Given the description of an element on the screen output the (x, y) to click on. 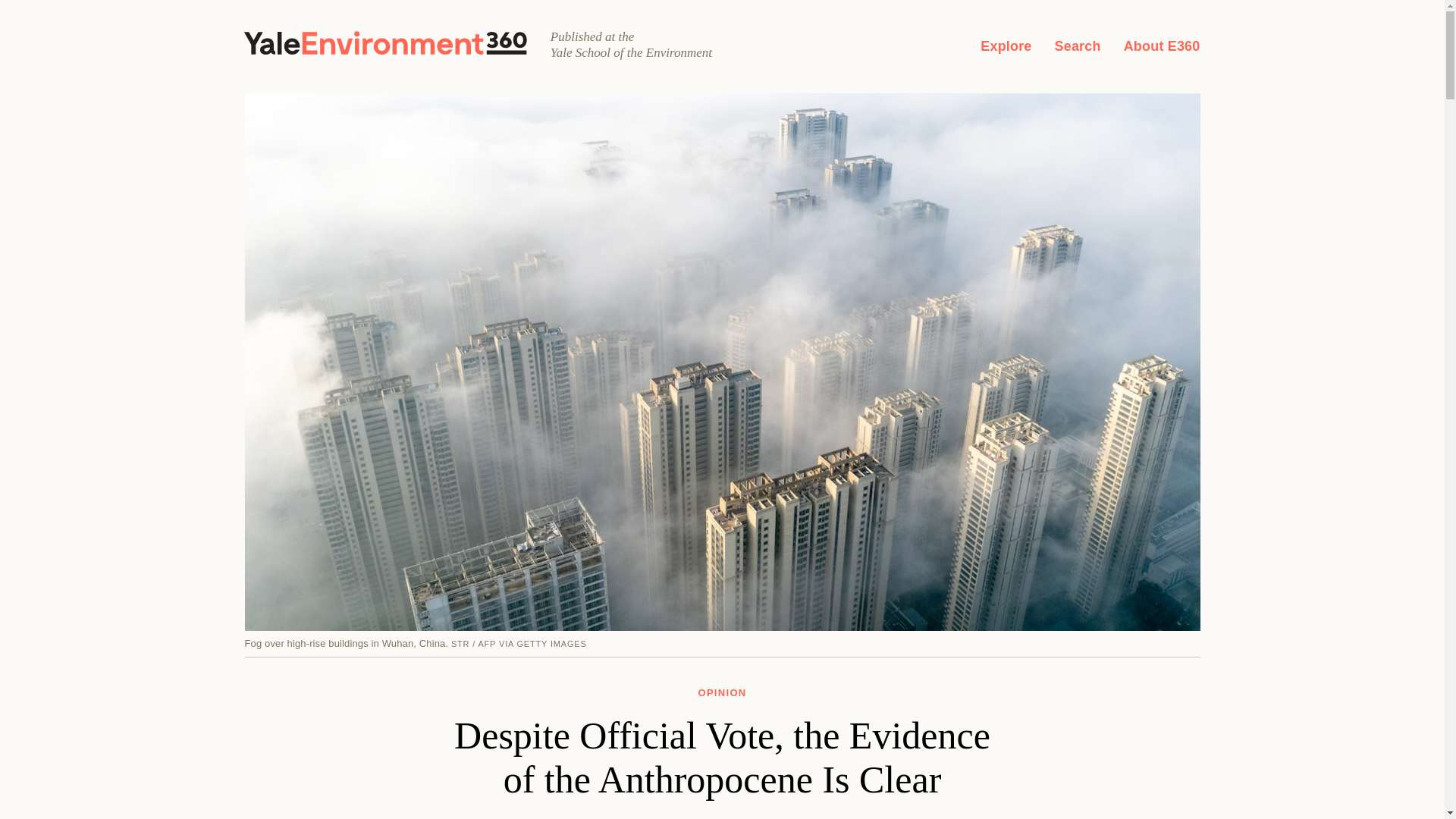
Explore (1004, 46)
Search (1077, 46)
Yale School of the Environment (647, 52)
Yale Environment 360 (385, 42)
About E360 (1161, 46)
